Given the description of an element on the screen output the (x, y) to click on. 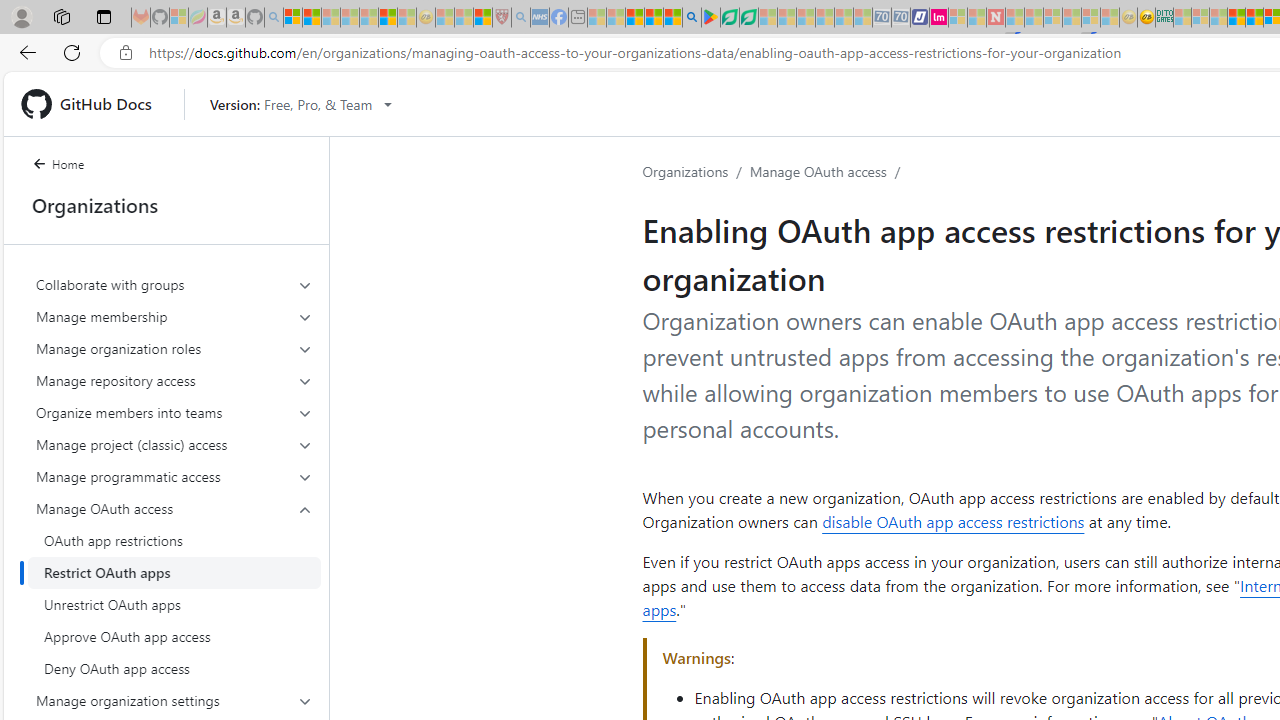
Manage OAuth access (817, 171)
Unrestrict OAuth apps (174, 604)
Manage repository access (174, 380)
Local - MSN (482, 17)
Deny OAuth app access (174, 668)
Manage OAuth access/ (828, 171)
Bluey: Let's Play! - Apps on Google Play (710, 17)
Restrict OAuth apps (174, 572)
